Given the description of an element on the screen output the (x, y) to click on. 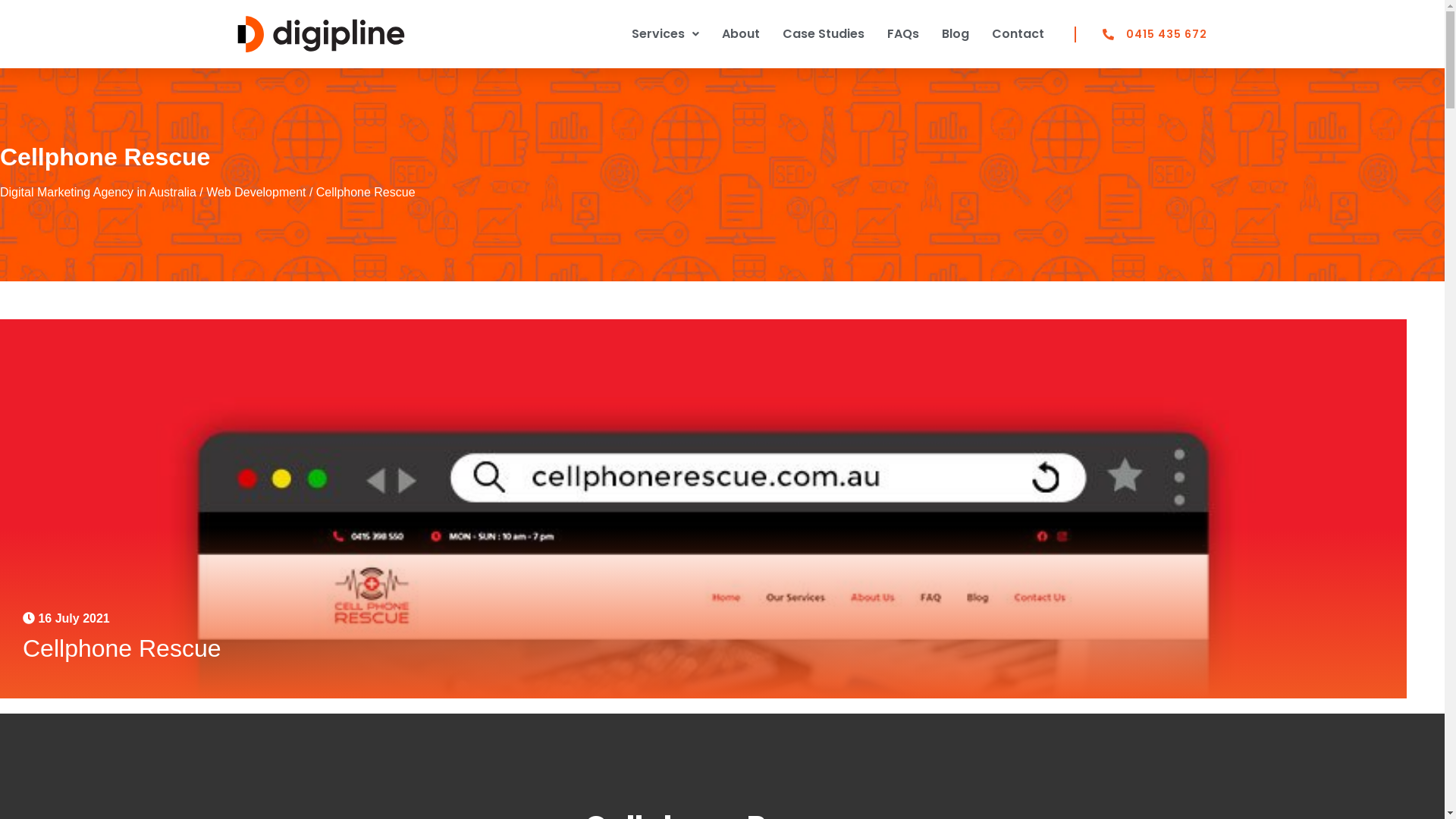
0415 435 672 Element type: text (1141, 33)
Blog Element type: text (955, 33)
About Element type: text (740, 33)
Digital Marketing Agency in Australia Element type: text (98, 191)
Services Element type: text (665, 33)
Contact Element type: text (1017, 33)
FAQs Element type: text (902, 33)
Case Studies Element type: text (823, 33)
Web Development Element type: text (255, 191)
